Given the description of an element on the screen output the (x, y) to click on. 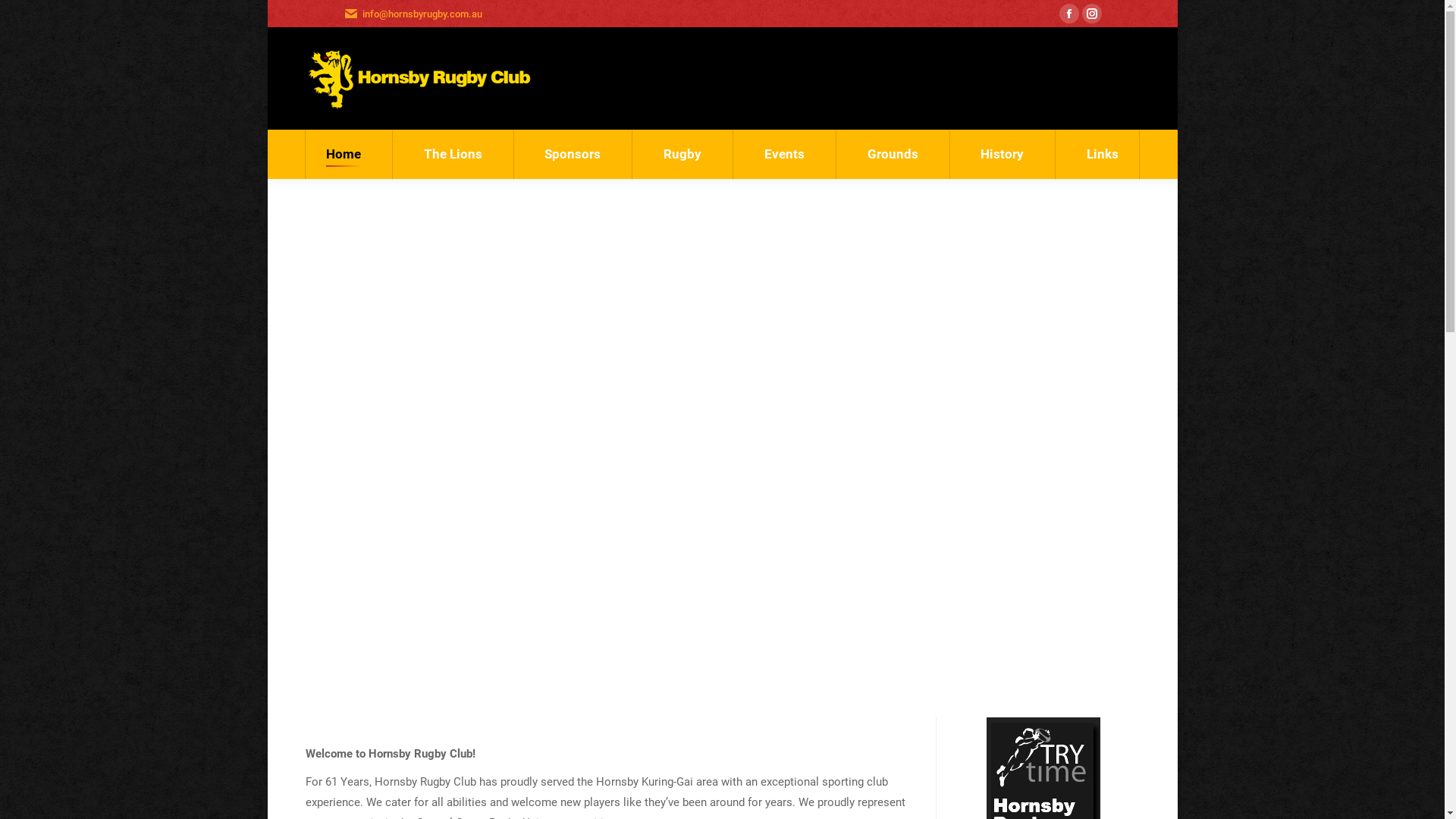
The Lions Element type: text (452, 154)
Grounds Element type: text (892, 154)
Sponsors Element type: text (572, 154)
Home Element type: text (342, 154)
Facebook page opens in new window Element type: text (1068, 13)
Hornsby Rugby Club Season Highlights Element type: hover (721, 434)
History Element type: text (1002, 154)
Rugby Element type: text (682, 154)
Instagram page opens in new window Element type: text (1091, 13)
Events Element type: text (784, 154)
Links Element type: text (1102, 154)
